Given the description of an element on the screen output the (x, y) to click on. 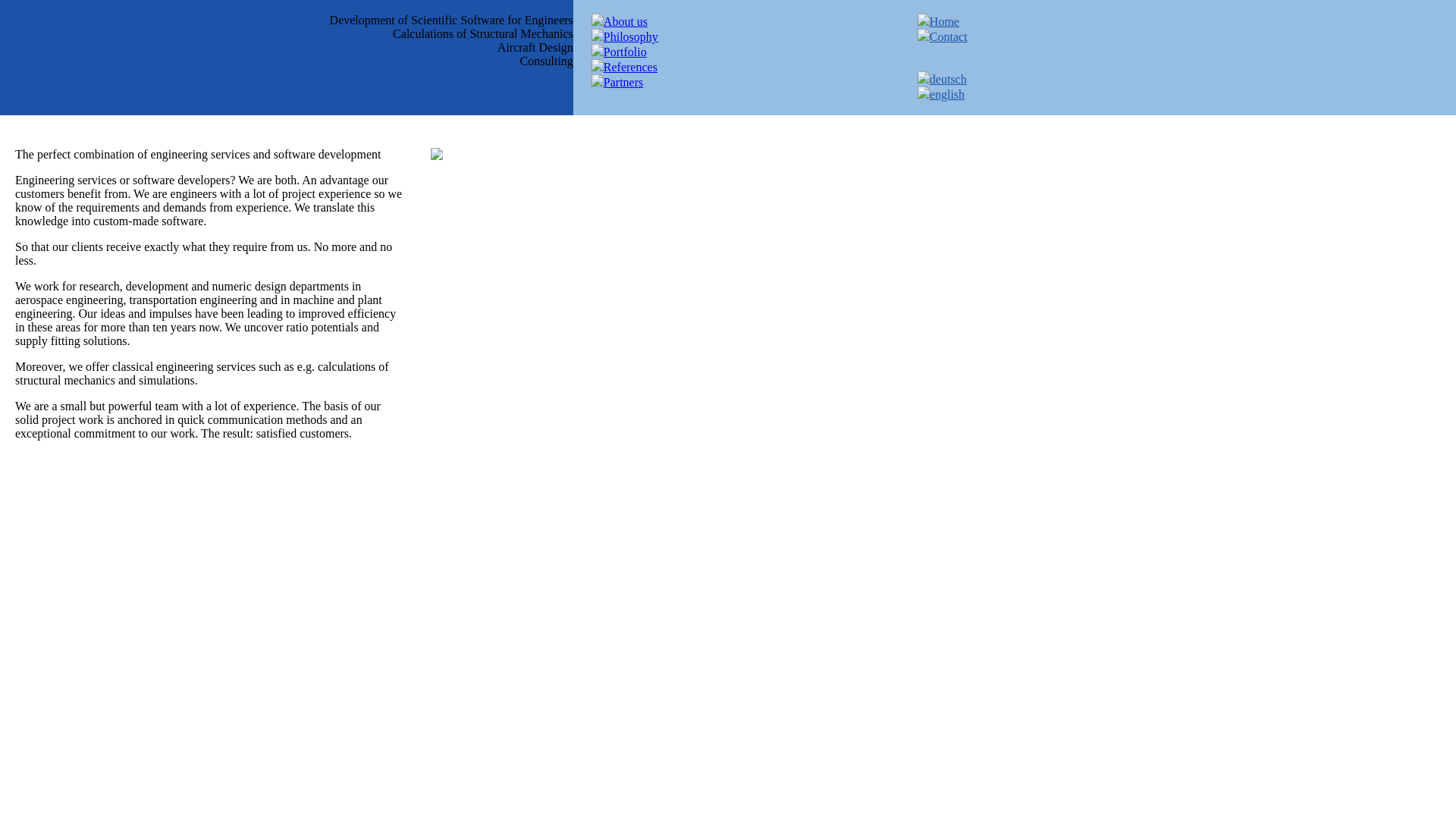
Portfolio (625, 51)
deutsch (948, 78)
Home (944, 21)
Partners (623, 82)
References (631, 66)
Philosophy (631, 36)
Contact (949, 36)
english (946, 93)
About us (625, 21)
